Given the description of an element on the screen output the (x, y) to click on. 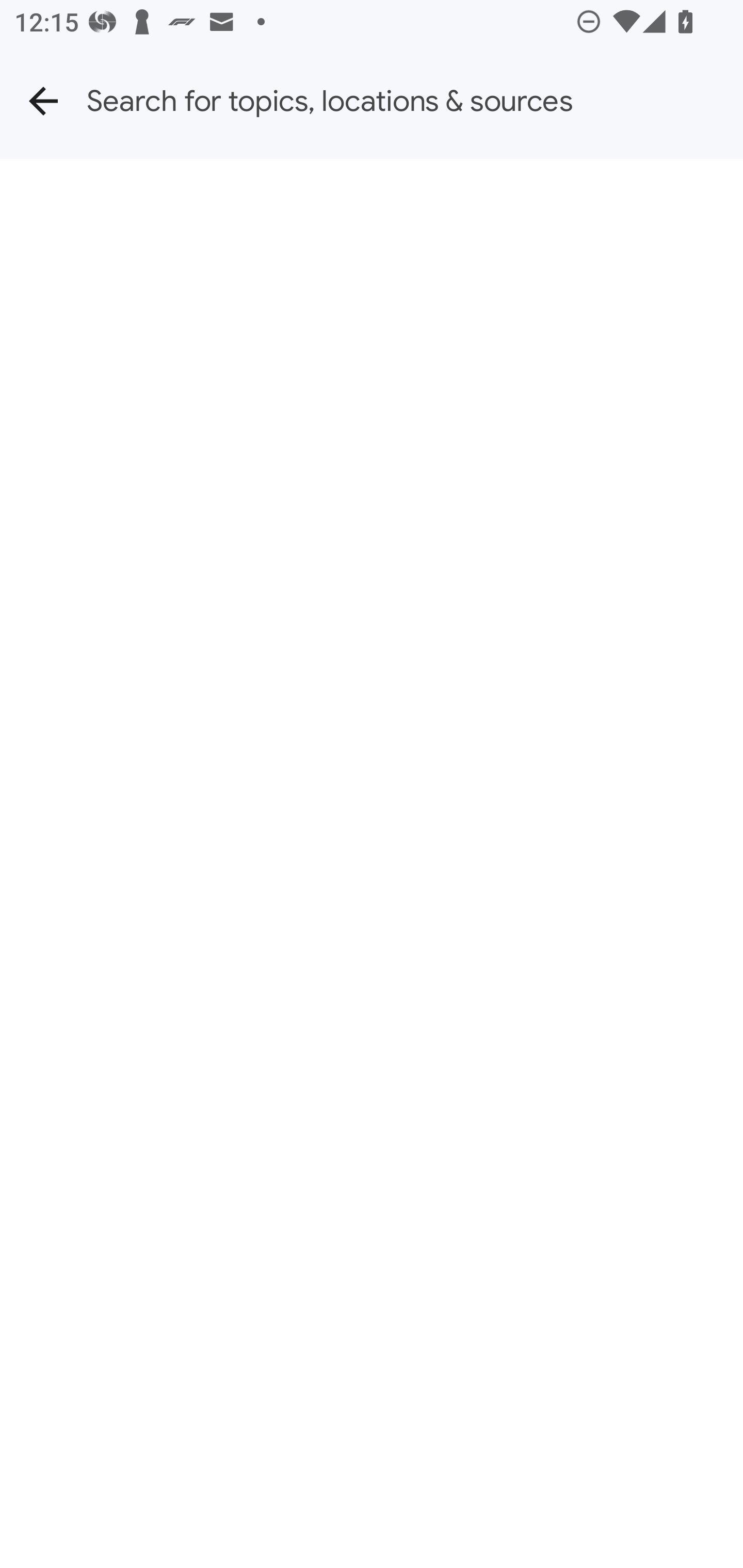
Back (43, 101)
Search for topics, locations & sources (414, 101)
